Given the description of an element on the screen output the (x, y) to click on. 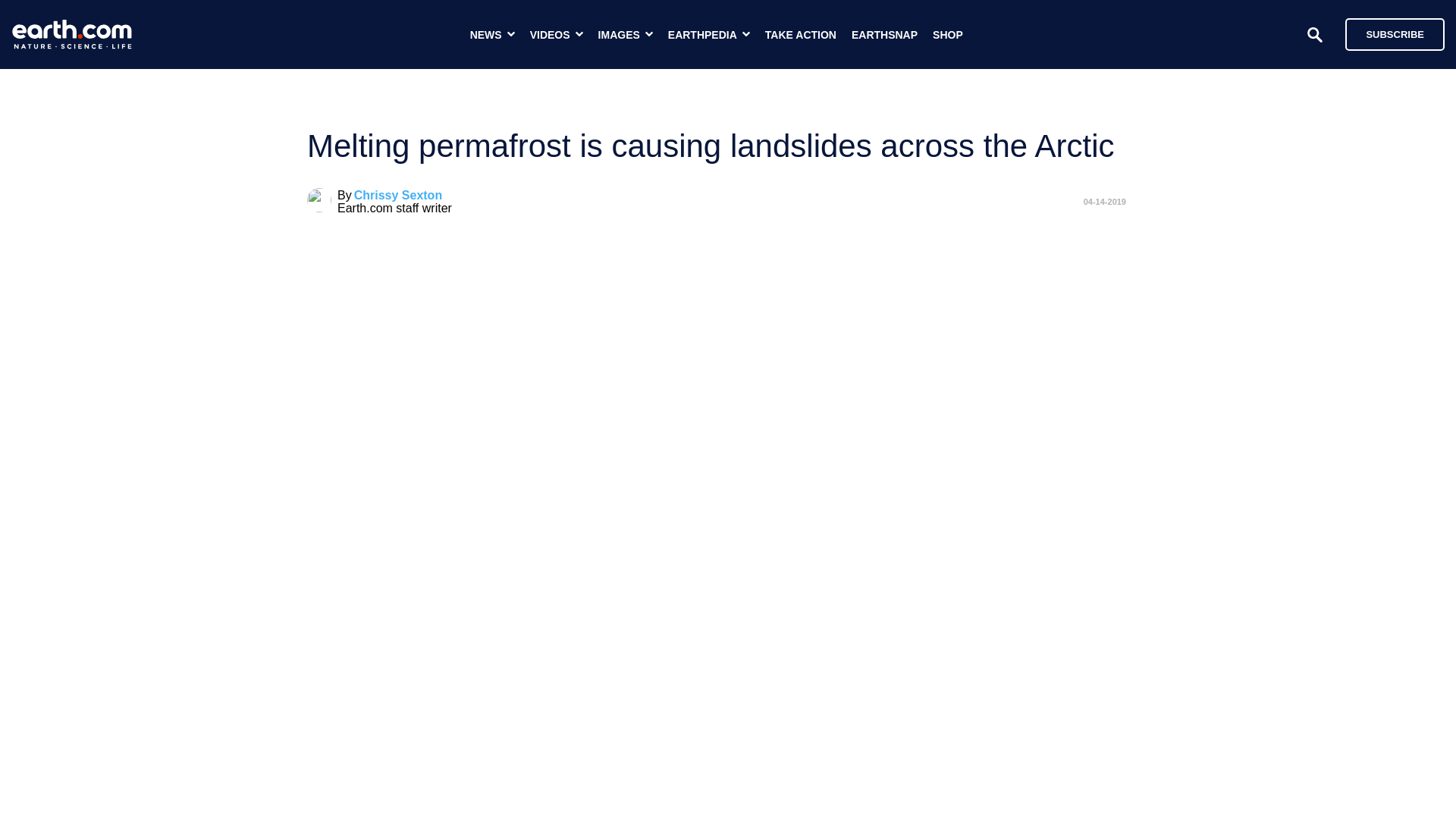
EARTHSNAP (884, 34)
SUBSCRIBE (1394, 34)
SHOP (947, 34)
TAKE ACTION (800, 34)
